Given the description of an element on the screen output the (x, y) to click on. 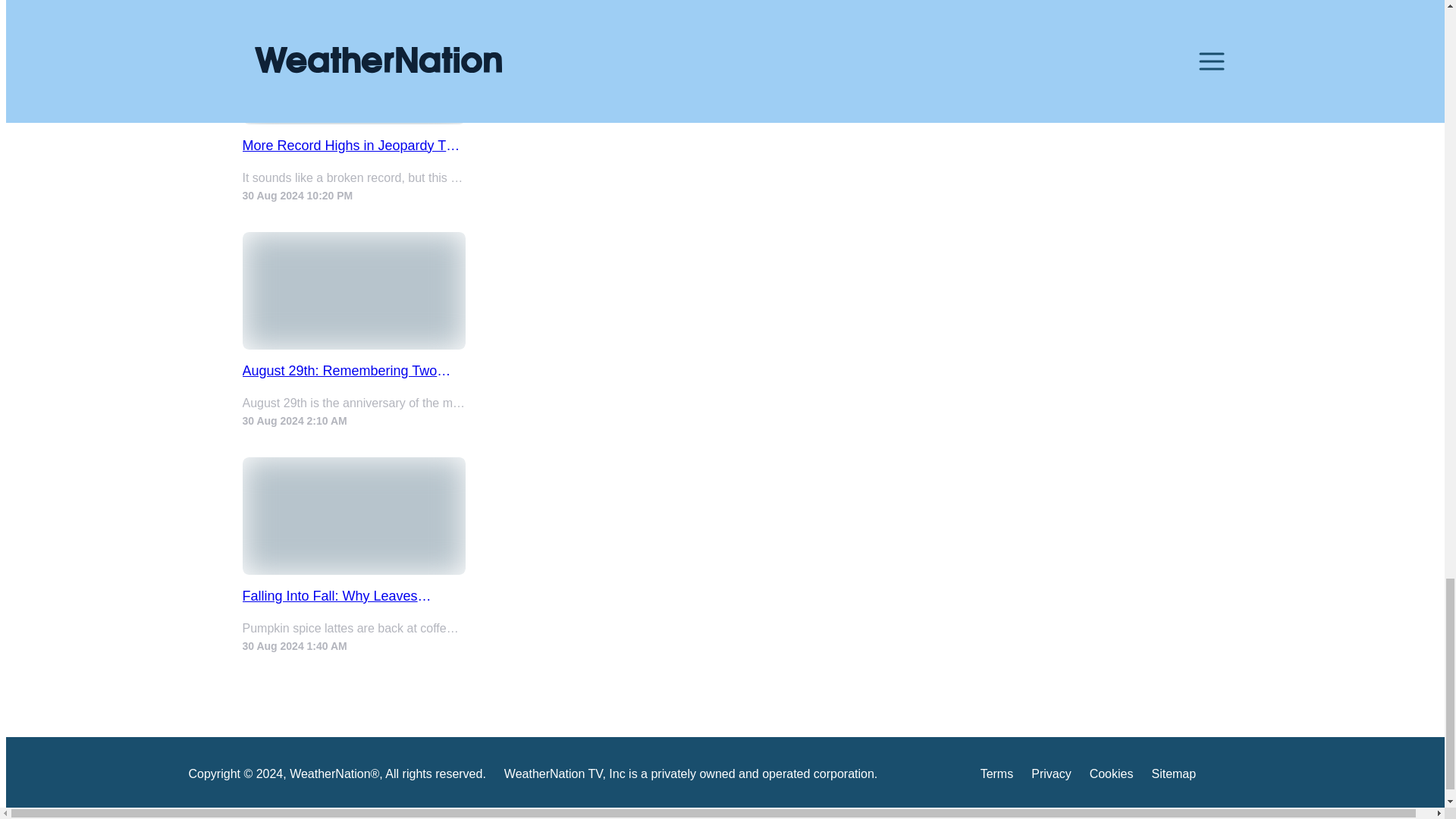
Terms (996, 776)
More Record Highs in Jeopardy This Week (354, 145)
Sitemap (1173, 776)
Cookies (1111, 776)
Privacy (1050, 776)
Falling Into Fall: Why Leaves Change Color (354, 596)
